Given the description of an element on the screen output the (x, y) to click on. 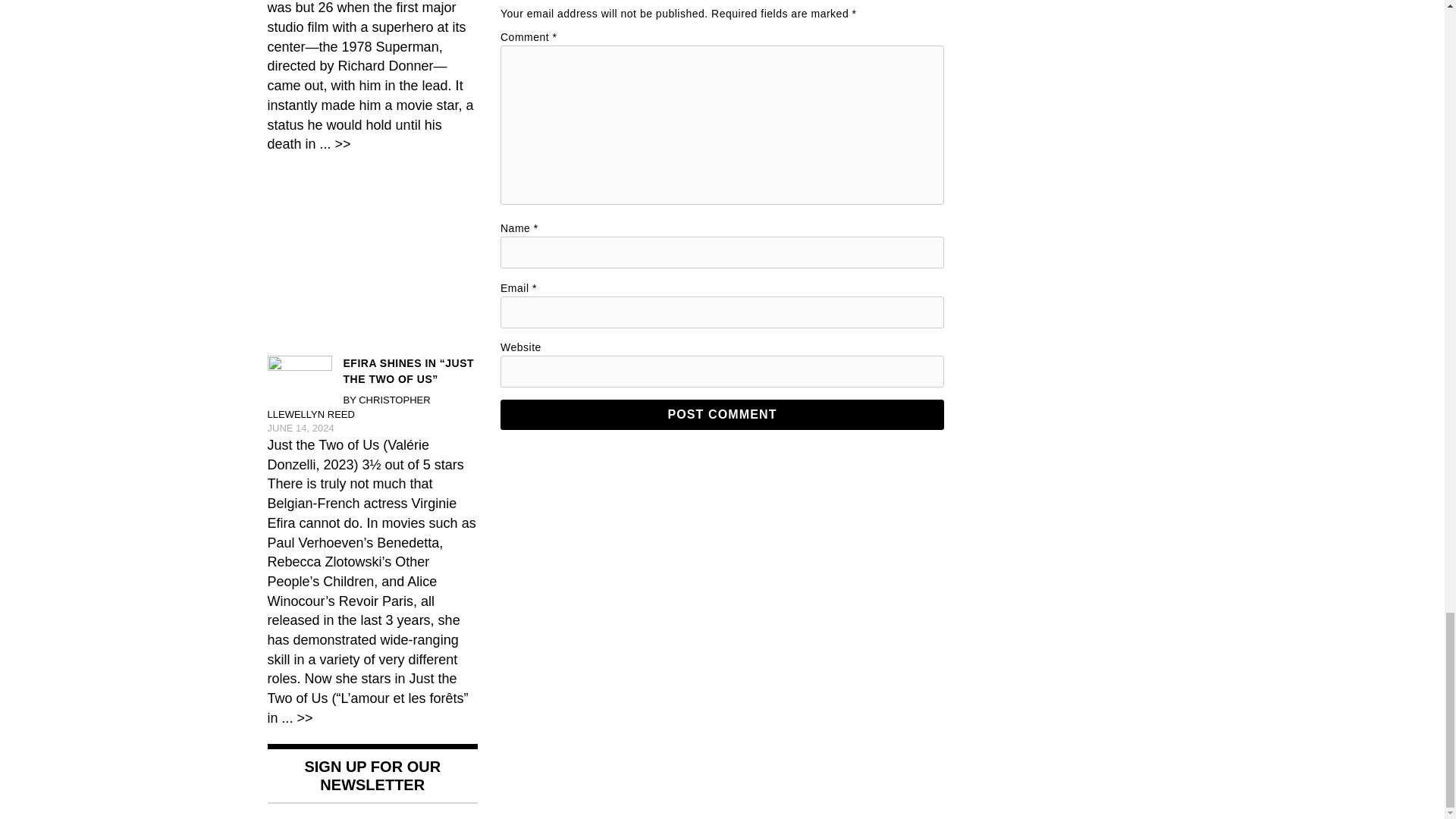
Post Comment (721, 414)
Post Comment (721, 414)
Advertisement (371, 257)
